Given the description of an element on the screen output the (x, y) to click on. 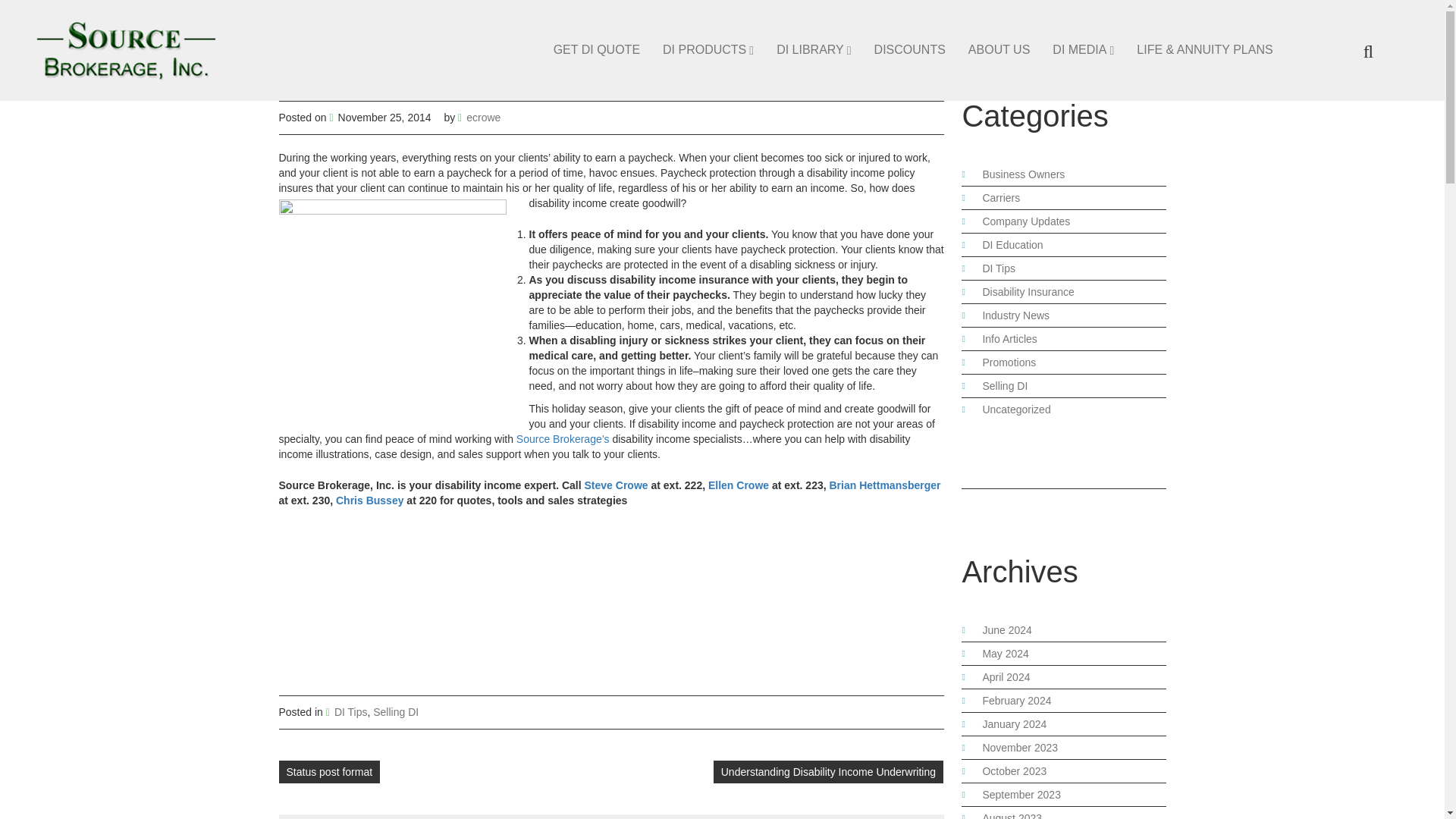
GET DI QUOTE (596, 49)
Understanding Disability Income Underwriting (828, 771)
Most Valuable asset (392, 308)
DI Tips (351, 711)
DI MEDIA (1082, 49)
DI LIBRARY (813, 49)
ecrowe (482, 117)
Posts by ecrowe (482, 117)
Ellen Crowe (737, 485)
Steve Crowe (616, 485)
ABOUT US (999, 49)
Status post format (329, 771)
Brian Hettmansberger (884, 485)
Chris Bussey (369, 500)
DI PRODUCTS (708, 49)
